Given the description of an element on the screen output the (x, y) to click on. 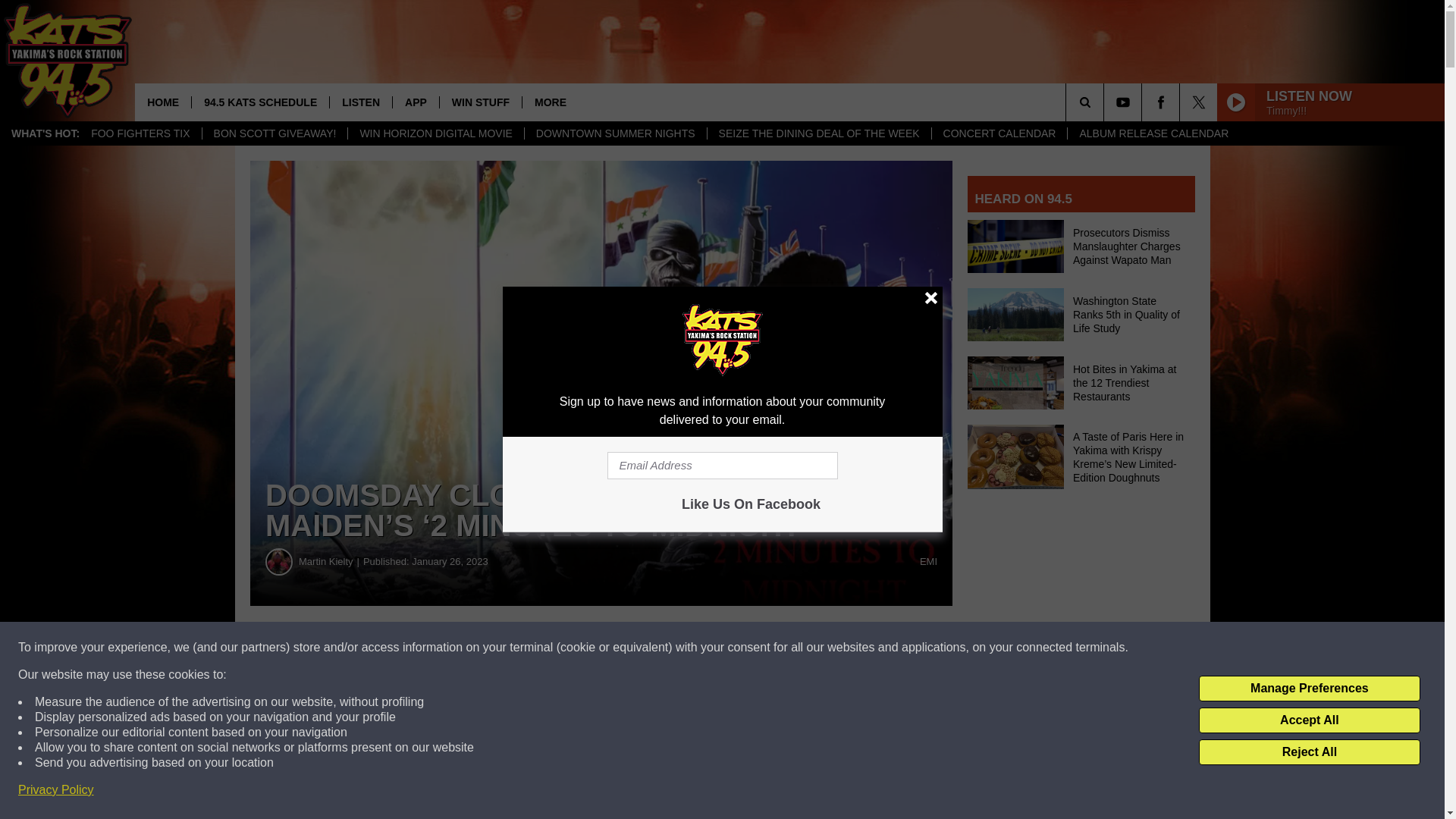
WIN STUFF (480, 102)
CONCERT CALENDAR (999, 133)
Accept All (1309, 720)
Manage Preferences (1309, 688)
SEARCH (1106, 102)
FOO FIGHTERS TIX (140, 133)
SEARCH (1106, 102)
DOWNTOWN SUMMER NIGHTS (615, 133)
Privacy Policy (55, 789)
LISTEN (360, 102)
BON SCOTT GIVEAWAY! (274, 133)
Share on Facebook (460, 647)
SEIZE THE DINING DEAL OF THE WEEK (818, 133)
Share on Twitter (741, 647)
ALBUM RELEASE CALENDAR (1153, 133)
